Given the description of an element on the screen output the (x, y) to click on. 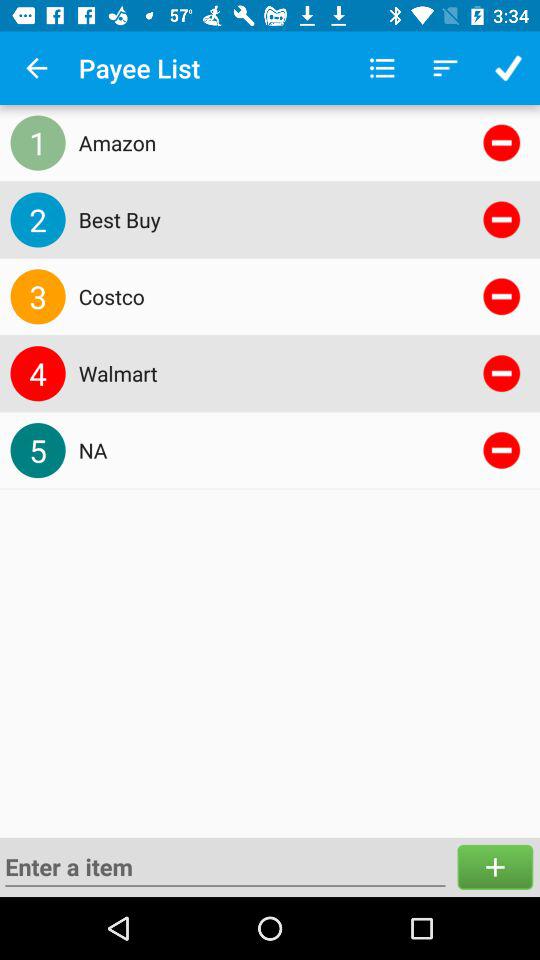
turn off item to the left of the payee list (36, 68)
